Given the description of an element on the screen output the (x, y) to click on. 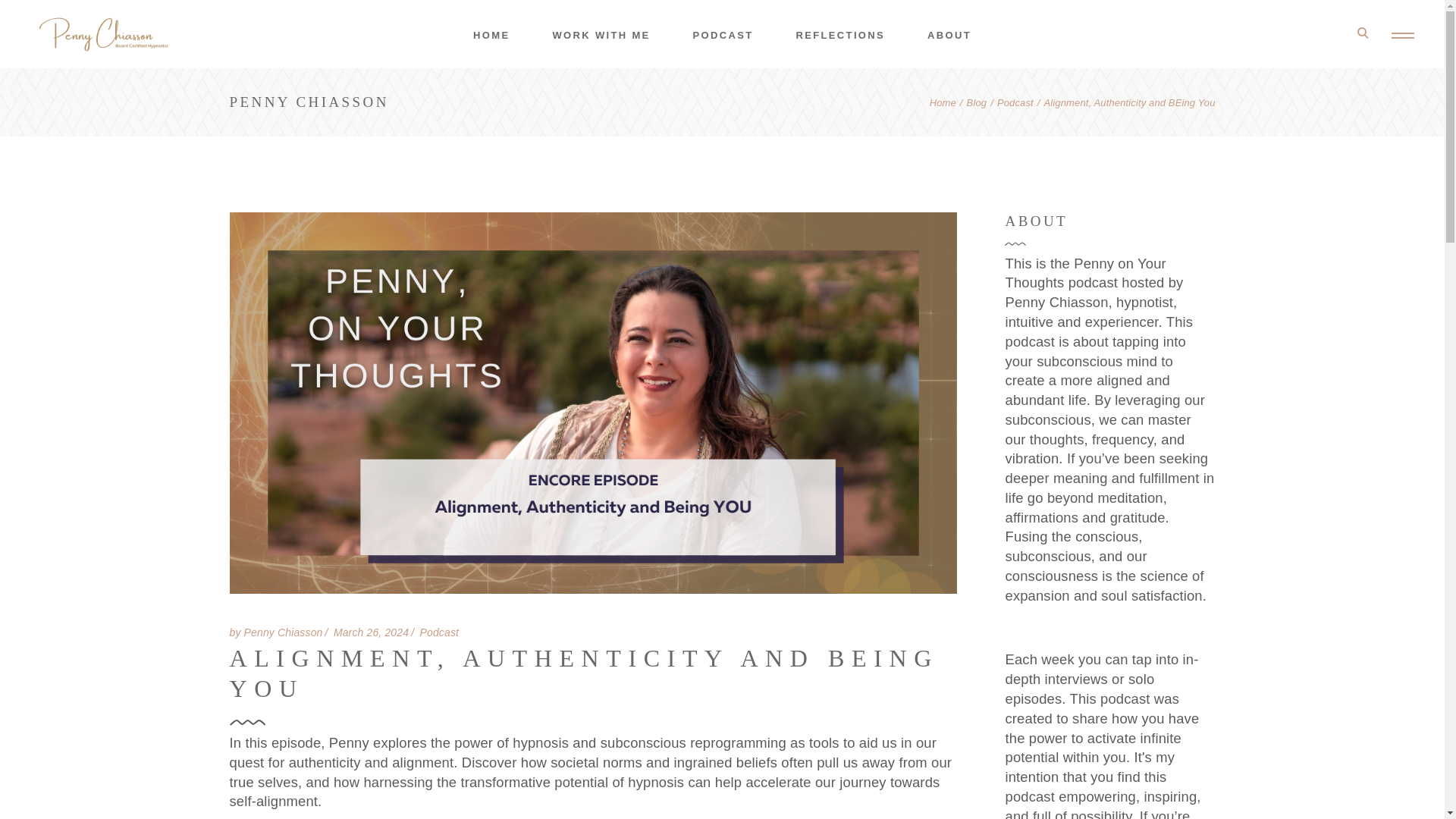
WORK WITH ME (600, 33)
Podcast (438, 631)
by Penny Chiasson (274, 631)
March 26, 2024 (371, 631)
Blog (976, 102)
REFLECTIONS (840, 33)
HOME (491, 33)
ABOUT (949, 33)
Title Text:  (371, 631)
PODCAST (723, 33)
Podcast (1015, 102)
Home (943, 102)
